Given the description of an element on the screen output the (x, y) to click on. 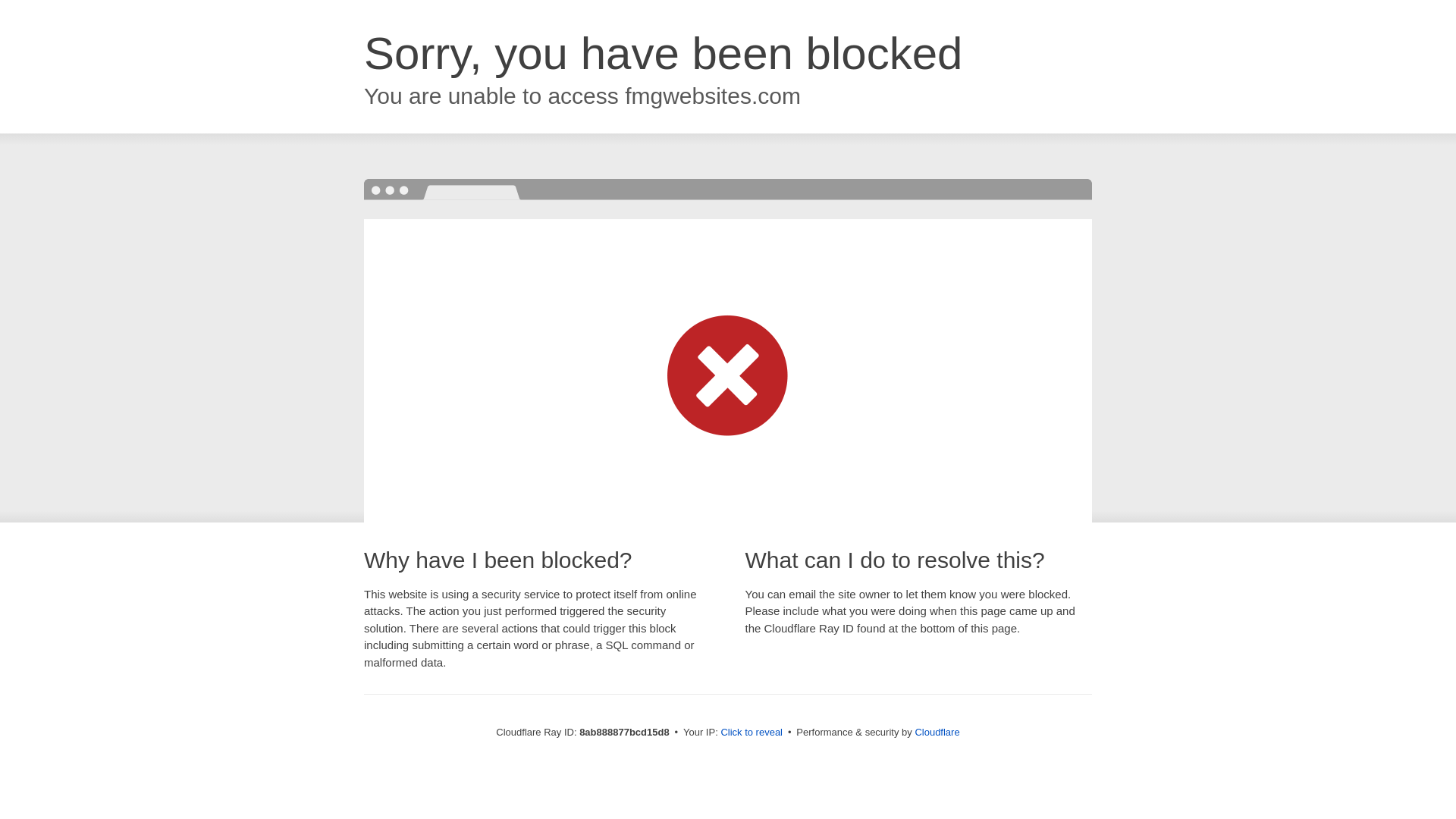
Click to reveal (751, 732)
Cloudflare (936, 731)
